Given the description of an element on the screen output the (x, y) to click on. 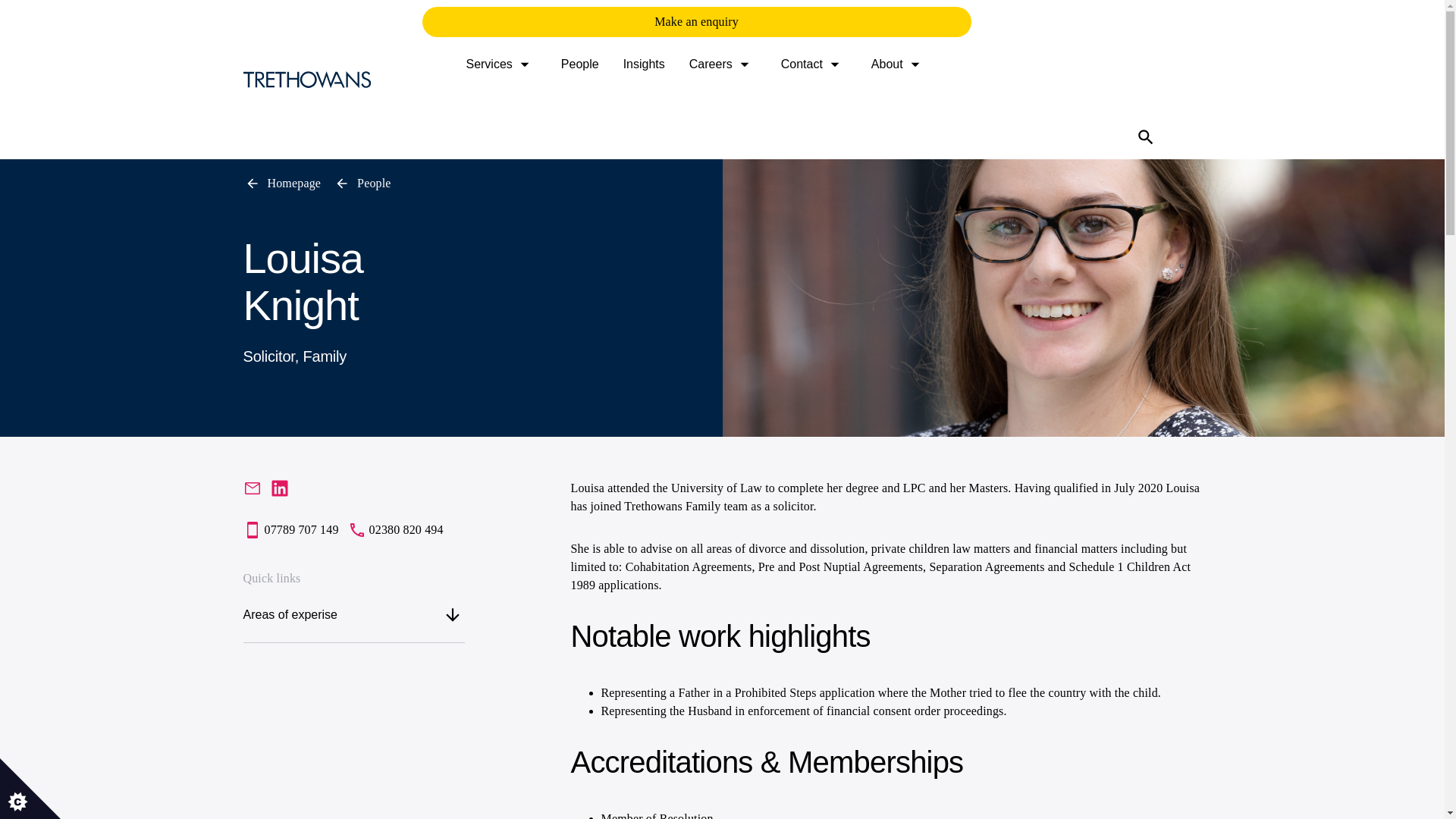
02380 820 494 (395, 529)
Homepage (281, 183)
People (362, 183)
Contact (813, 64)
Areas of experise (353, 615)
Make an enquiry (696, 21)
07789 707 149 (290, 529)
Insights (644, 64)
About (898, 64)
Careers (722, 64)
People (579, 64)
Services (500, 64)
